Given the description of an element on the screen output the (x, y) to click on. 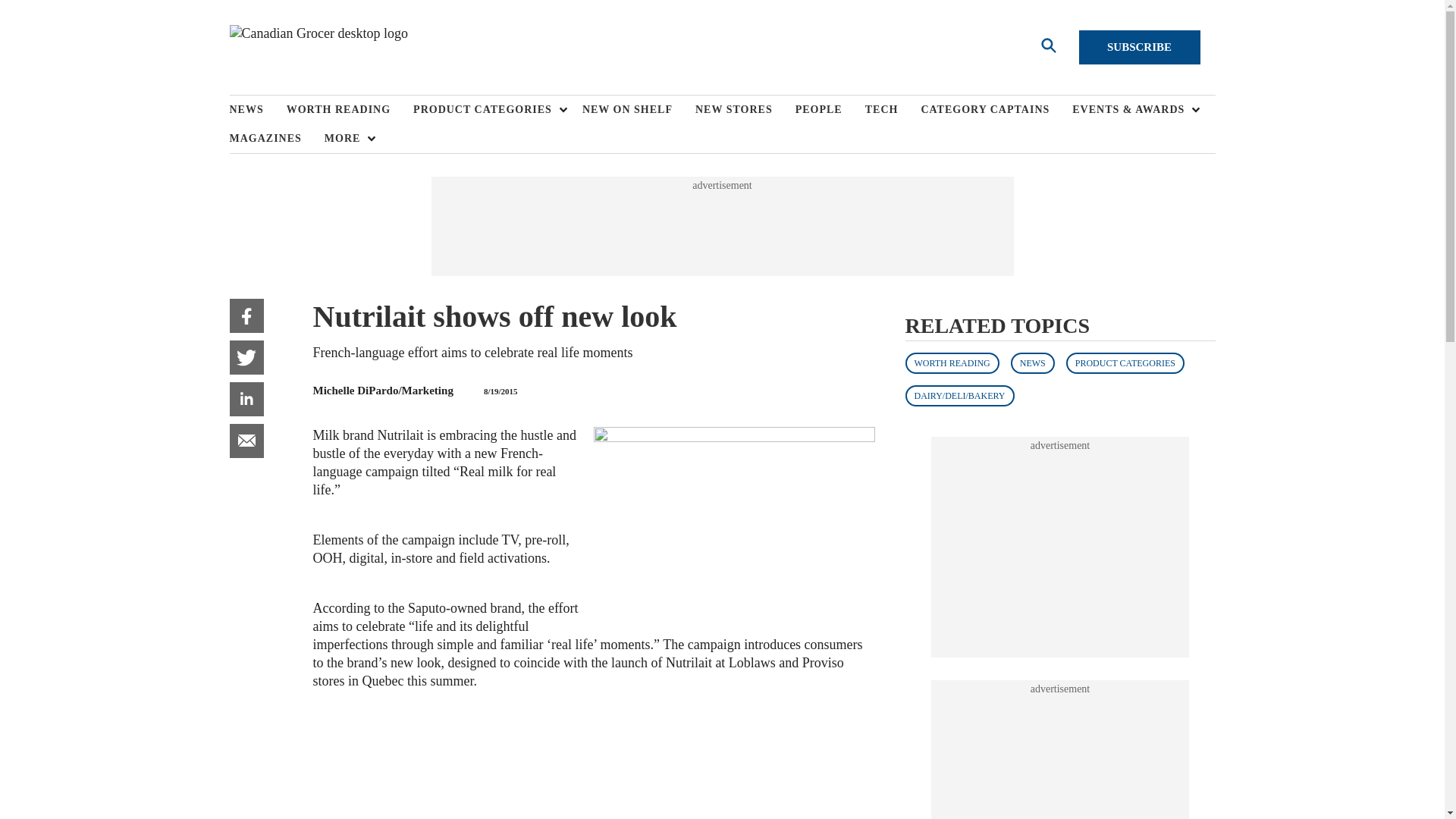
linkedIn (245, 399)
TECH (892, 109)
NEW STORES (744, 109)
facebook (245, 315)
3rd party ad content (721, 226)
3rd party ad content (1059, 547)
CATEGORY CAPTAINS (995, 109)
twitter (245, 357)
PEOPLE (829, 109)
linkedIn (245, 399)
